Given the description of an element on the screen output the (x, y) to click on. 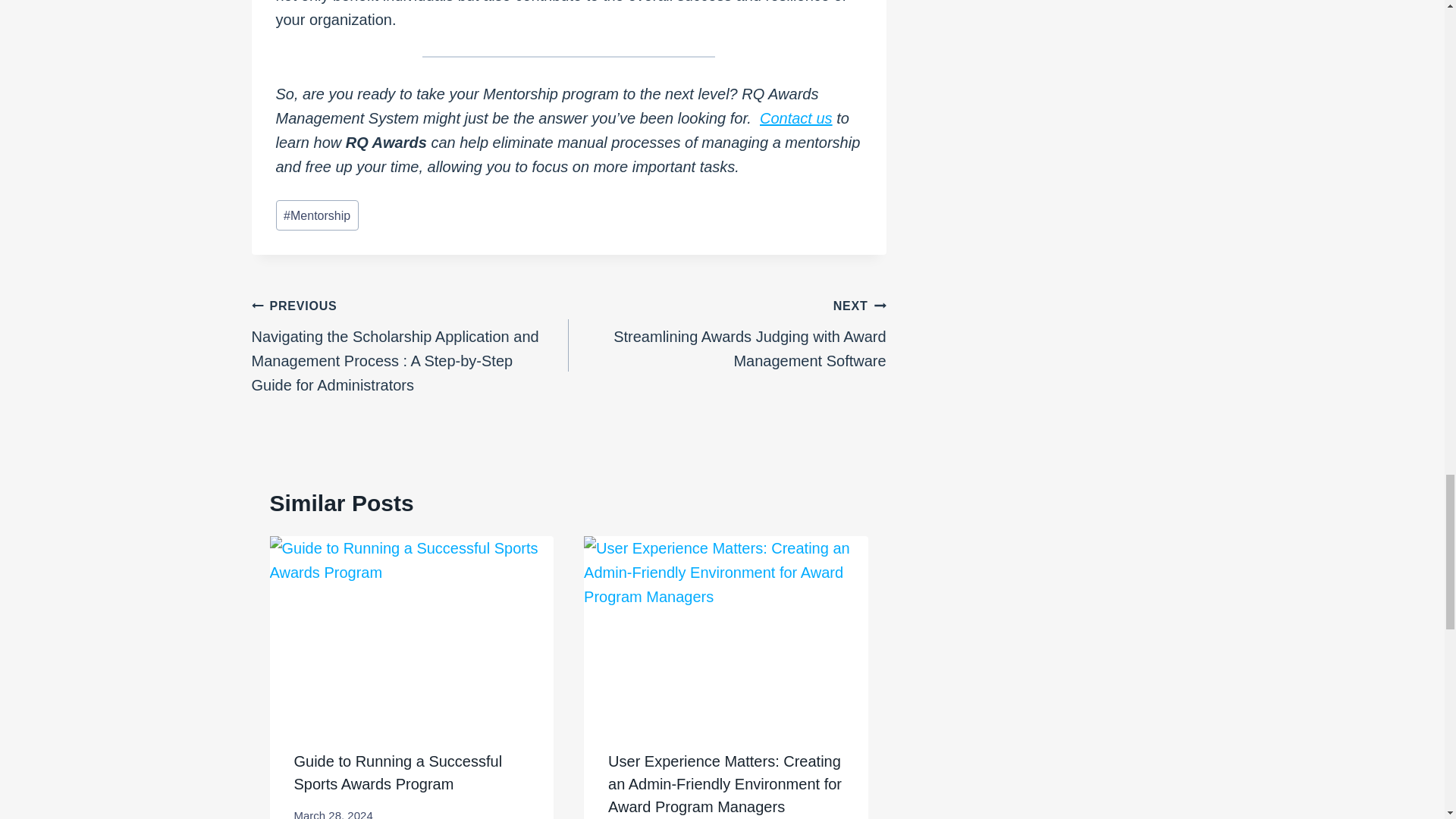
Mentorship (317, 214)
Request a Demo (796, 117)
